Given the description of an element on the screen output the (x, y) to click on. 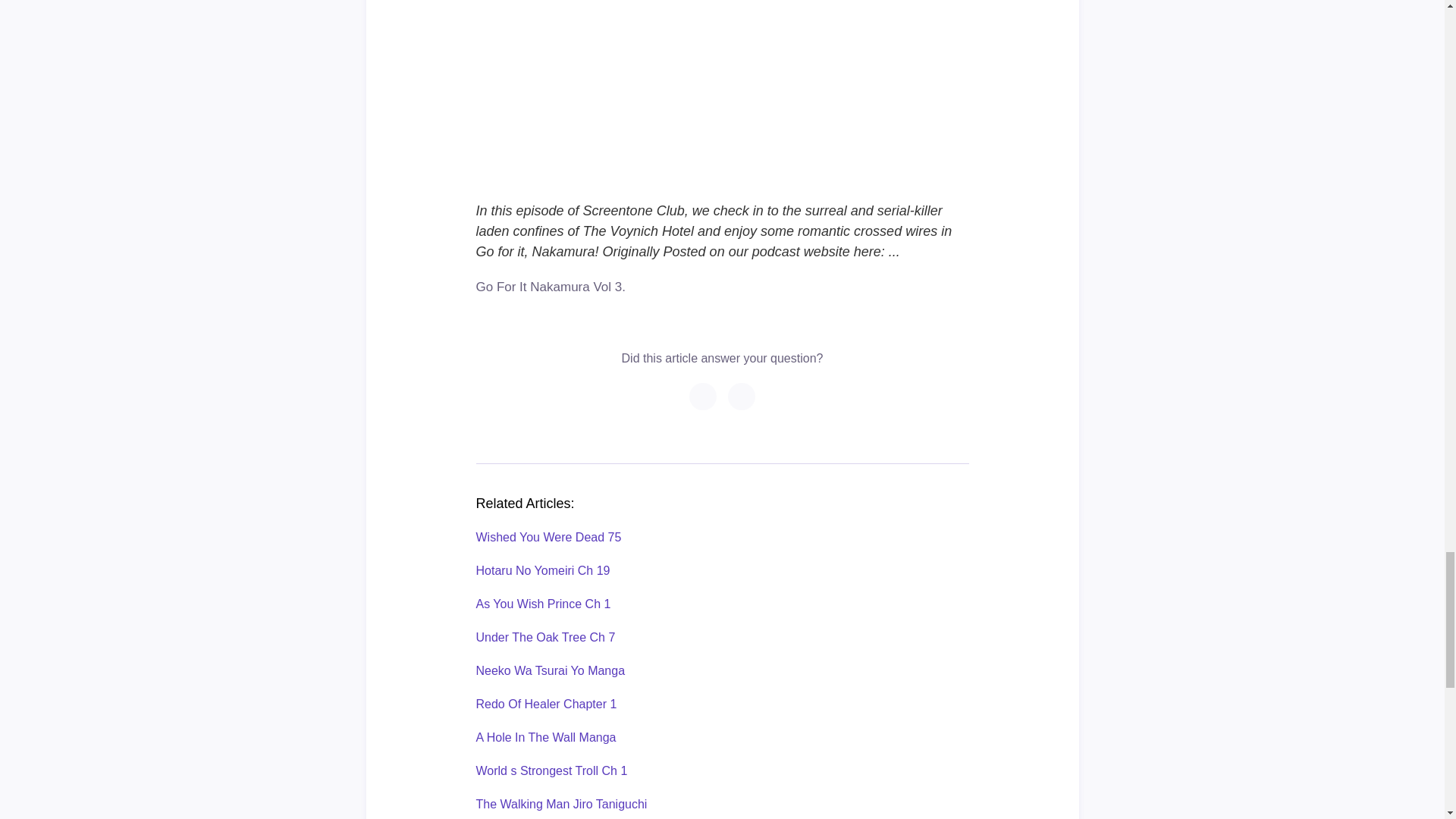
The Walking Man Jiro Taniguchi (561, 803)
Hotaru No Yomeiri Ch 19 (543, 570)
A Hole In The Wall Manga (545, 737)
Redo Of Healer Chapter 1 (546, 703)
Neeko Wa Tsurai Yo Manga (551, 670)
As You Wish Prince Ch 1 (543, 603)
Like (741, 395)
Under The Oak Tree Ch 7 (545, 636)
Dislike (702, 395)
Wished You Were Dead 75 (548, 536)
World s Strongest Troll Ch 1 (551, 770)
